Given the description of an element on the screen output the (x, y) to click on. 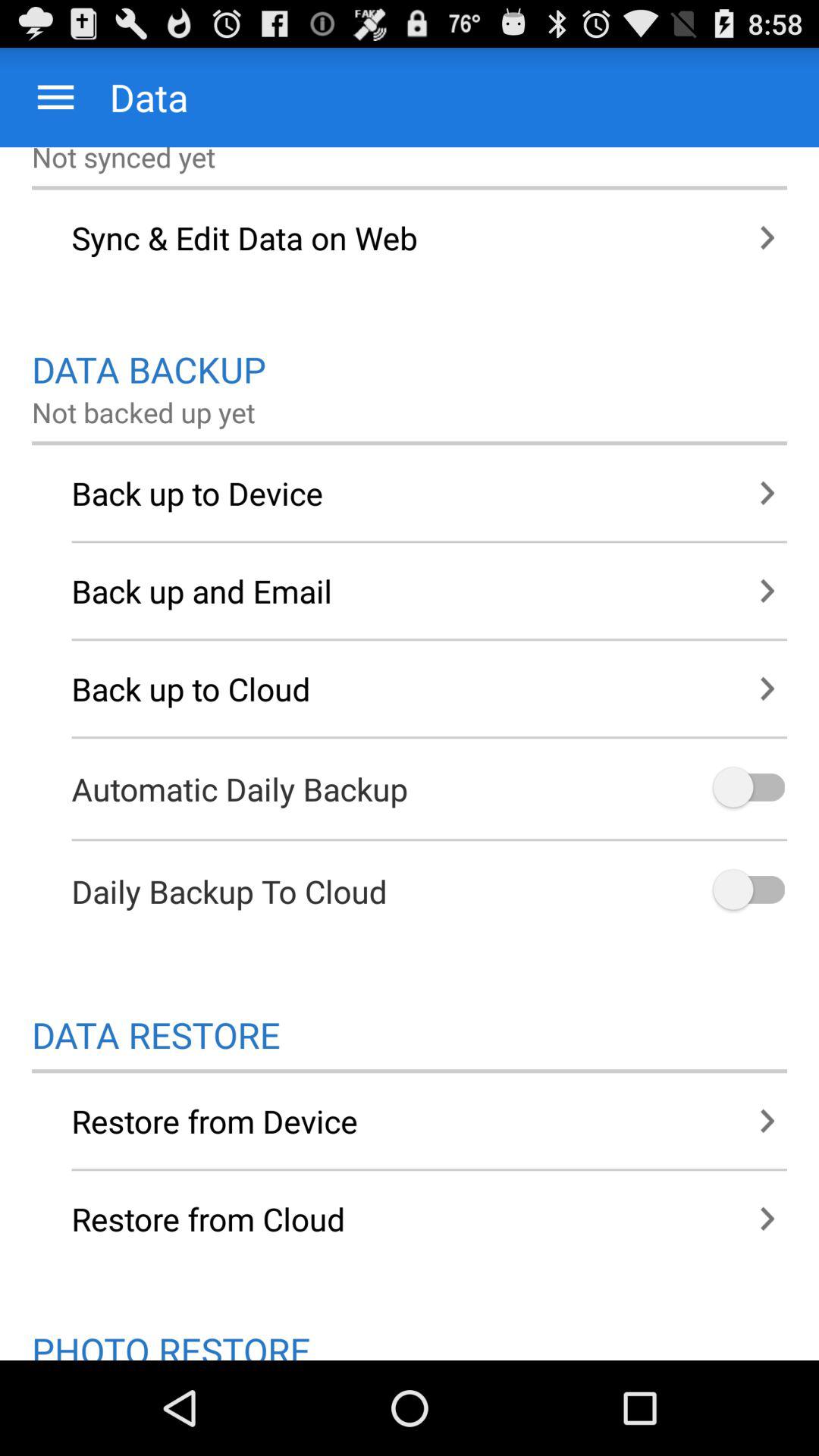
open sync edit data item (409, 237)
